Given the description of an element on the screen output the (x, y) to click on. 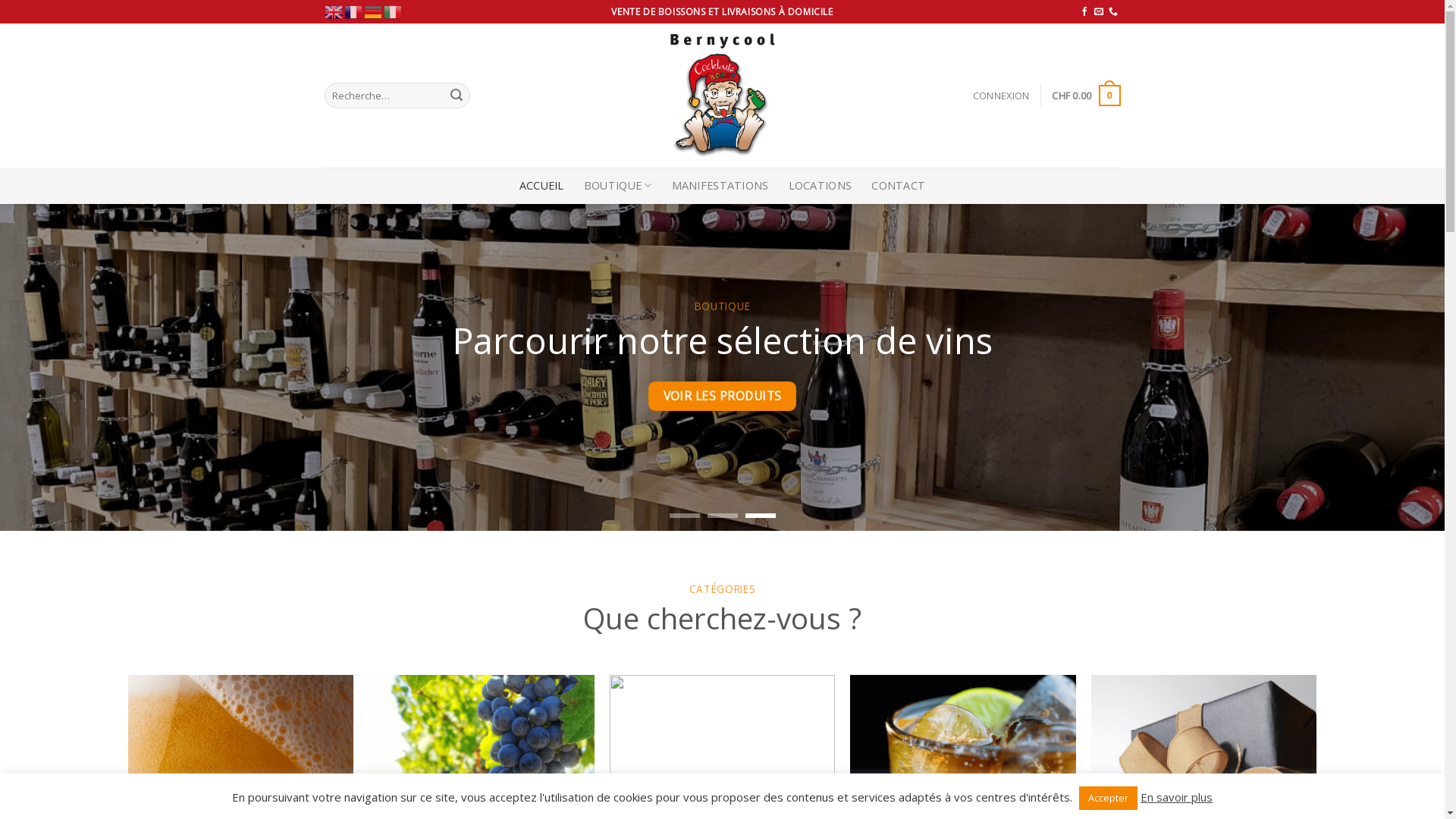
ACCUEIL Element type: text (541, 185)
CHF 0.00
0 Element type: text (1085, 95)
Call us Element type: hover (1112, 11)
Nous envoyer un email Element type: hover (1098, 11)
VOIR LES PRODUITS Element type: text (722, 396)
MANIFESTATIONS Element type: text (719, 185)
English Element type: hover (334, 10)
CONNEXION Element type: text (1000, 95)
Italian Element type: hover (393, 10)
Accepter Element type: text (1108, 797)
German Element type: hover (373, 10)
BOUTIQUE Element type: text (617, 185)
En savoir plus Element type: text (1176, 796)
LOCATIONS Element type: text (820, 185)
CONTACT Element type: text (898, 185)
Recherche Element type: text (456, 95)
French Element type: hover (354, 10)
Nous suivre sur Facebook Element type: hover (1083, 11)
